Given the description of an element on the screen output the (x, y) to click on. 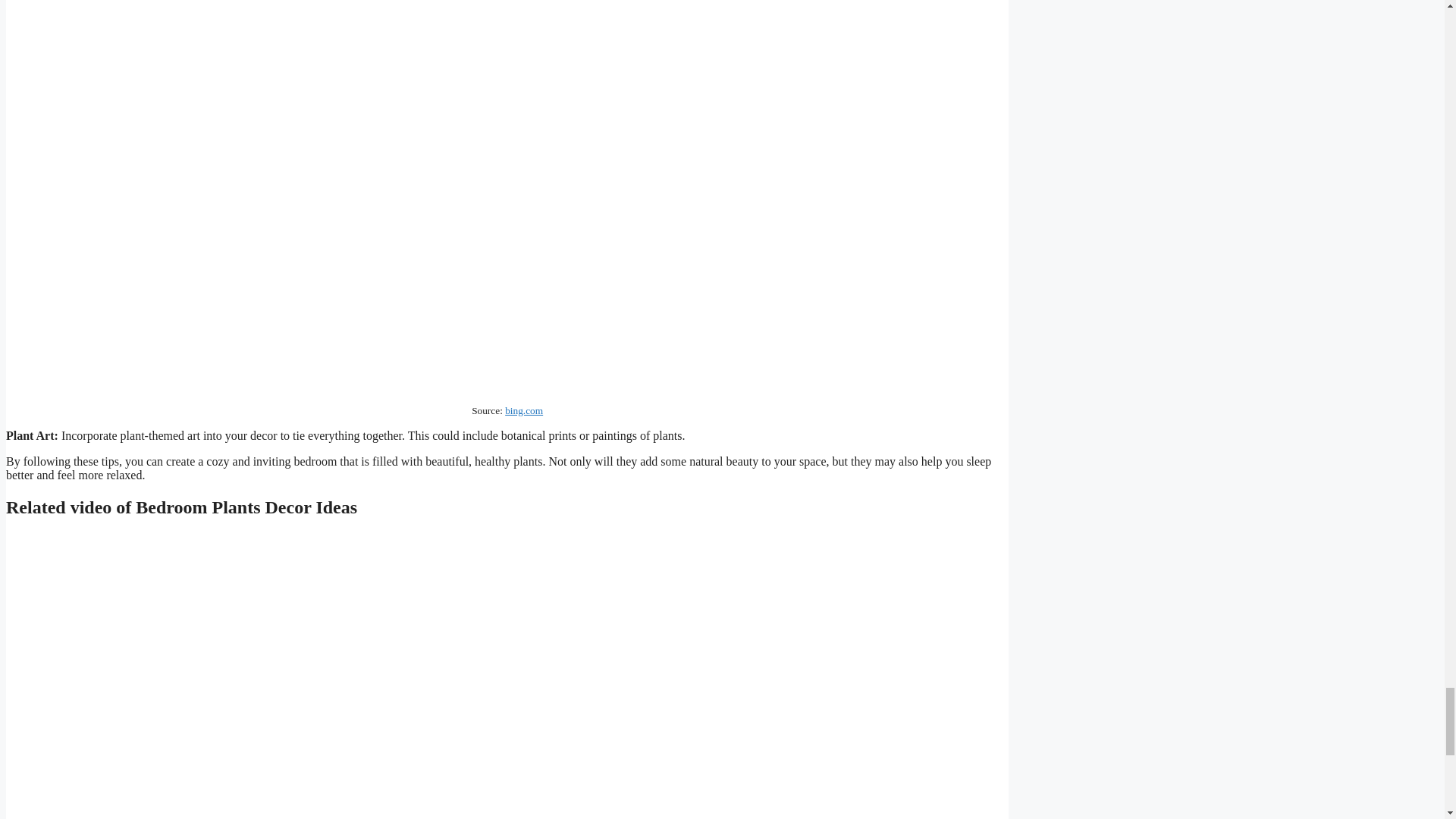
bing.com (524, 410)
